Given the description of an element on the screen output the (x, y) to click on. 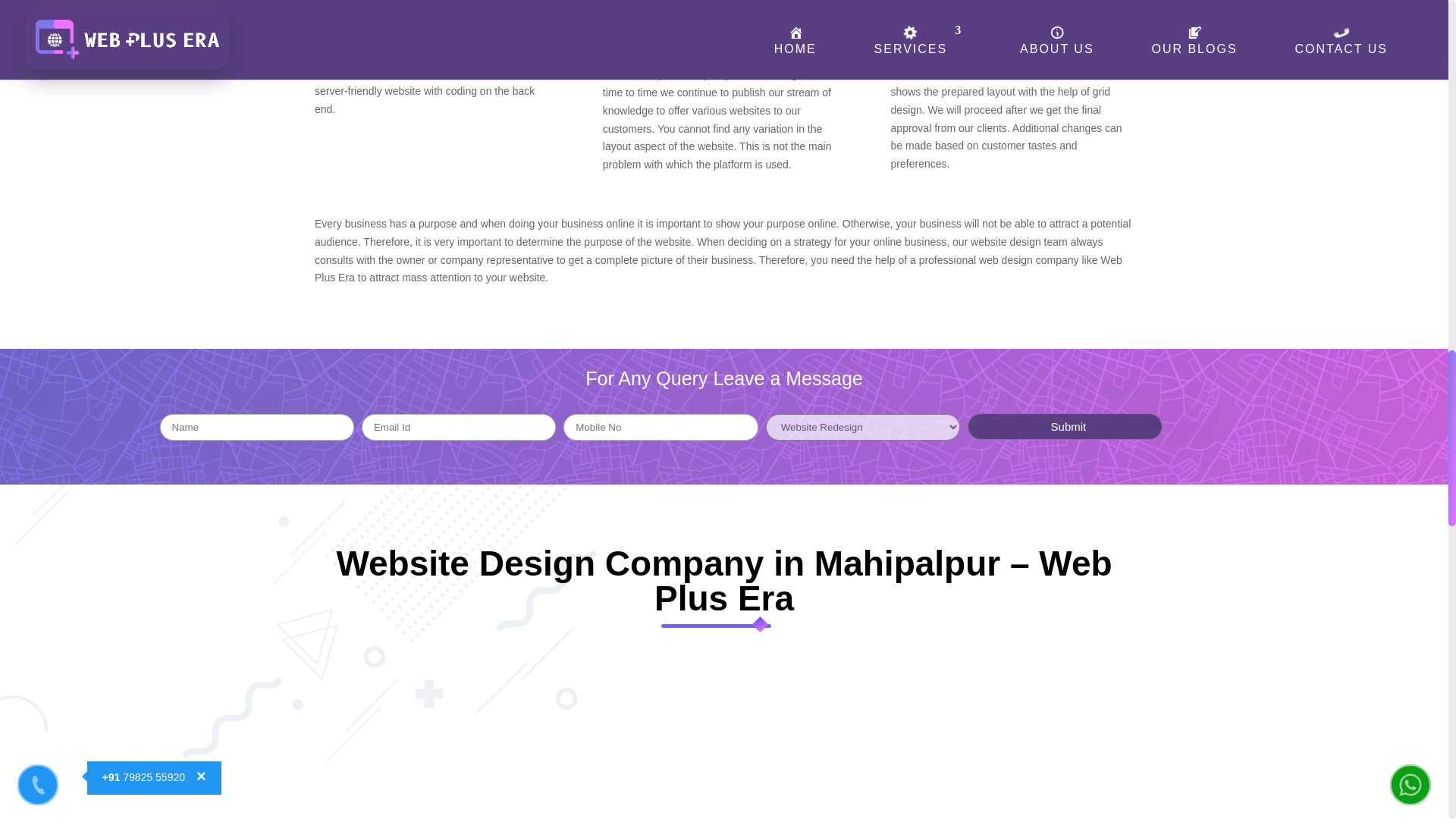
Submit (1064, 426)
Submit (1064, 426)
